Given the description of an element on the screen output the (x, y) to click on. 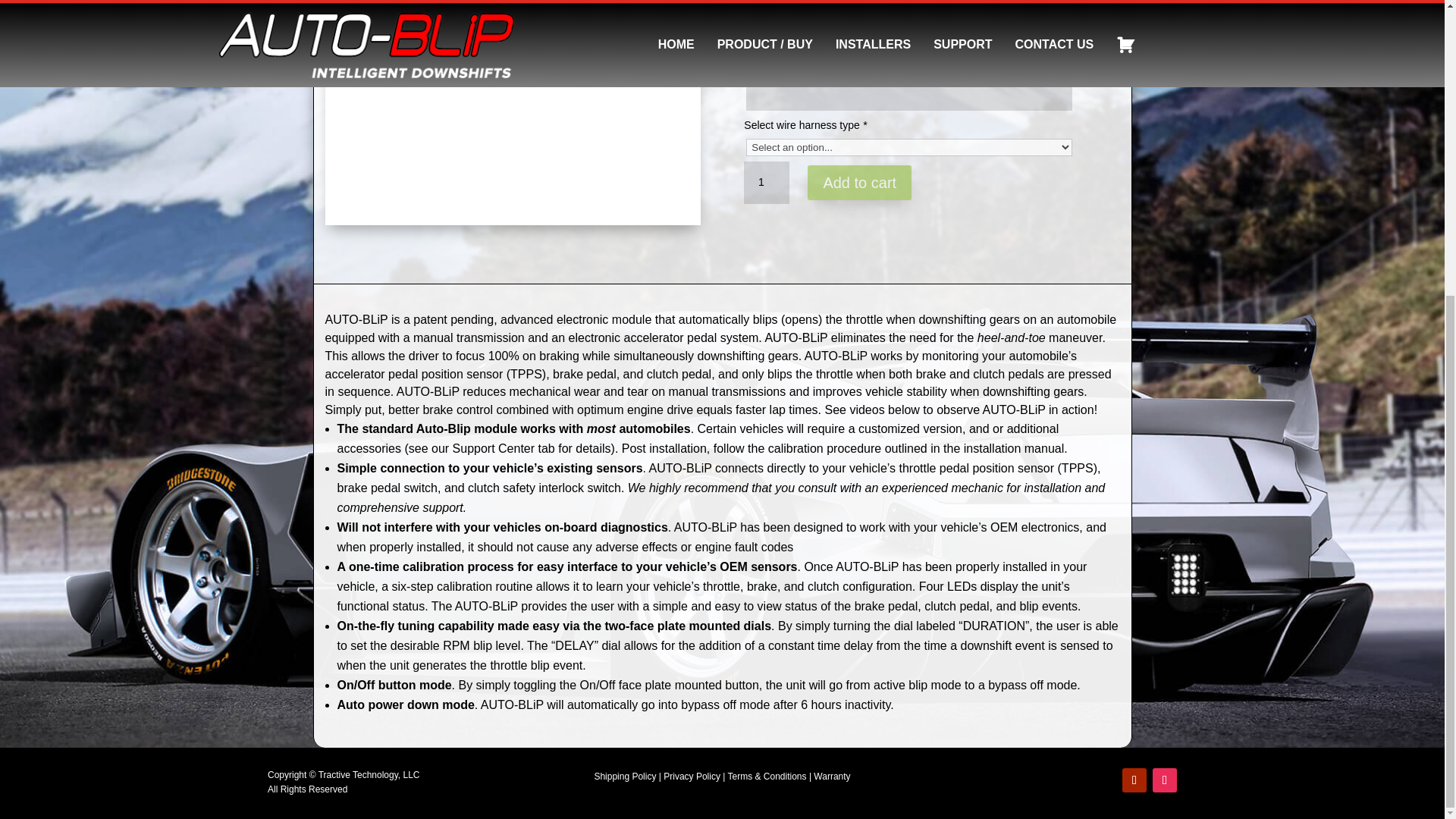
Follow on Instagram (1164, 780)
Follow on Youtube (1134, 780)
Warranty (831, 776)
1 (766, 182)
Shipping Policy (625, 776)
Privacy Policy (691, 776)
Add to cart (859, 182)
